Given the description of an element on the screen output the (x, y) to click on. 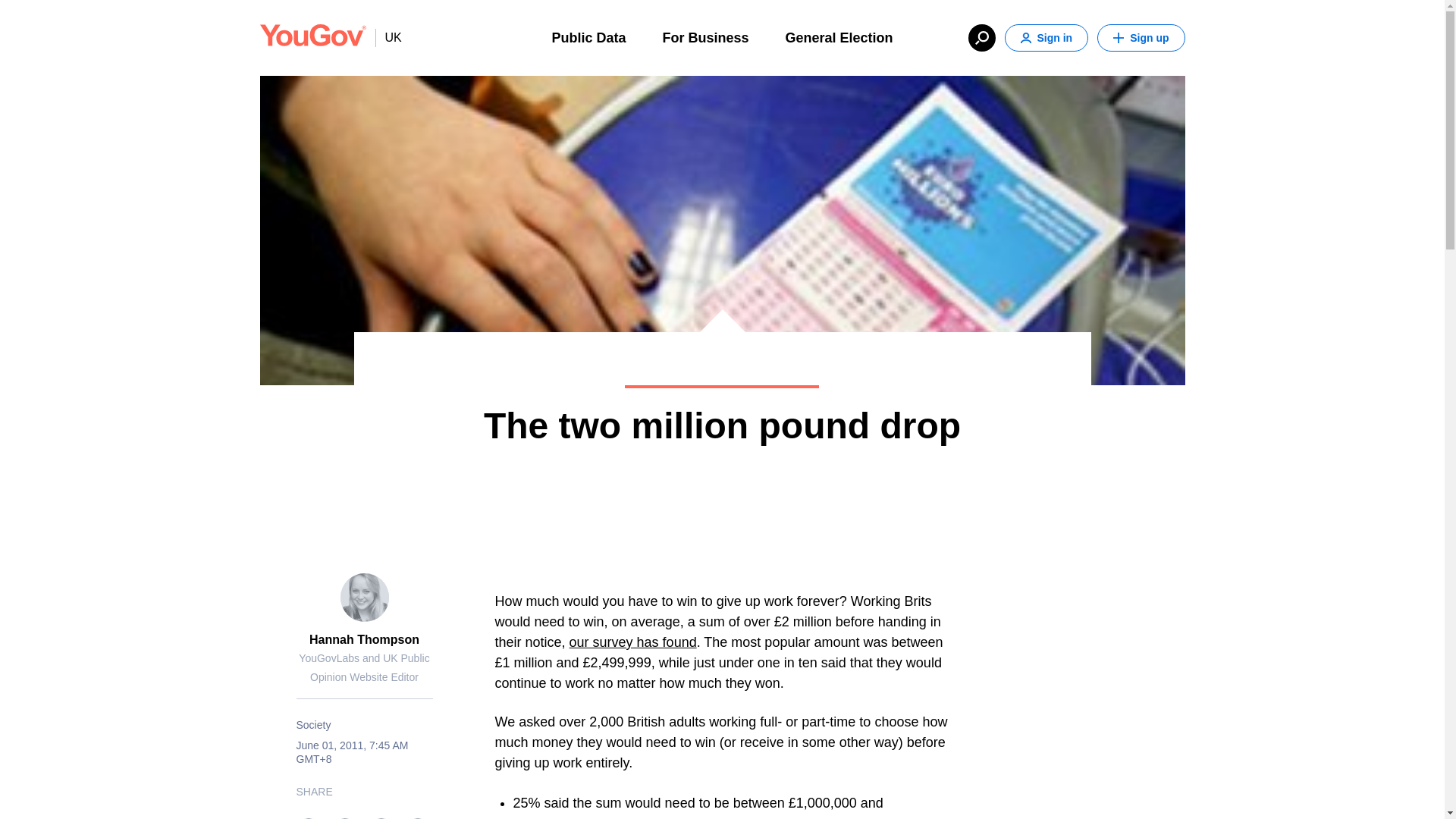
Public Data (588, 37)
Sign up (1141, 37)
For Business (705, 37)
General Election (839, 37)
Sign in (1045, 37)
UK (387, 37)
